Given the description of an element on the screen output the (x, y) to click on. 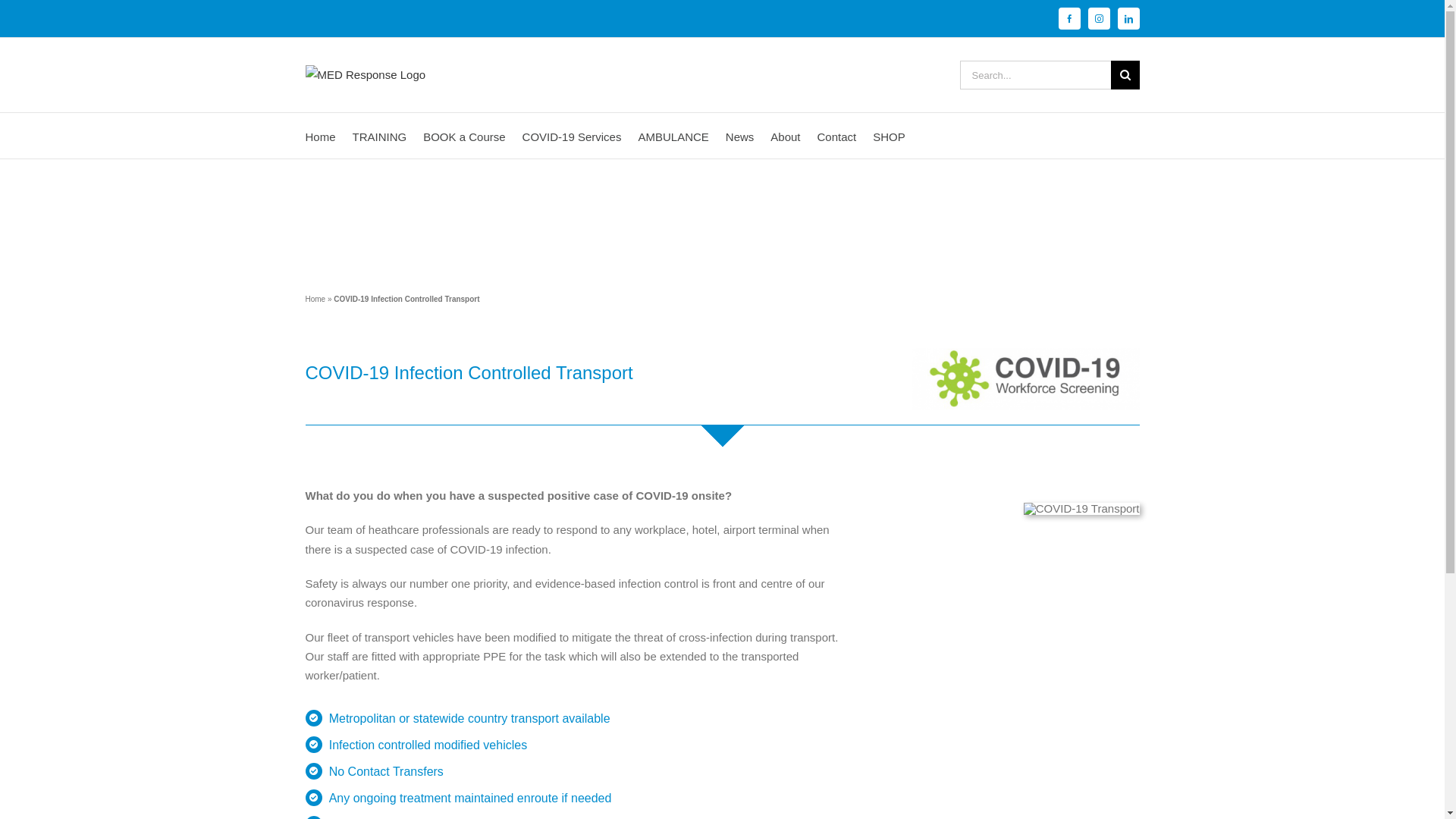
CV-pic Element type: hover (1025, 378)
Contact Element type: text (836, 135)
AMBULANCE Element type: text (672, 135)
COVID-19-Transport Element type: hover (1081, 508)
Instagram Element type: text (1098, 18)
LinkedIn Element type: text (1128, 18)
Home Element type: text (314, 298)
BOOK a Course Element type: text (464, 135)
TRAINING Element type: text (379, 135)
SHOP Element type: text (888, 135)
News Element type: text (739, 135)
Facebook Element type: text (1069, 18)
About Element type: text (785, 135)
COVID-19 Services Element type: text (571, 135)
Home Element type: text (319, 135)
